Given the description of an element on the screen output the (x, y) to click on. 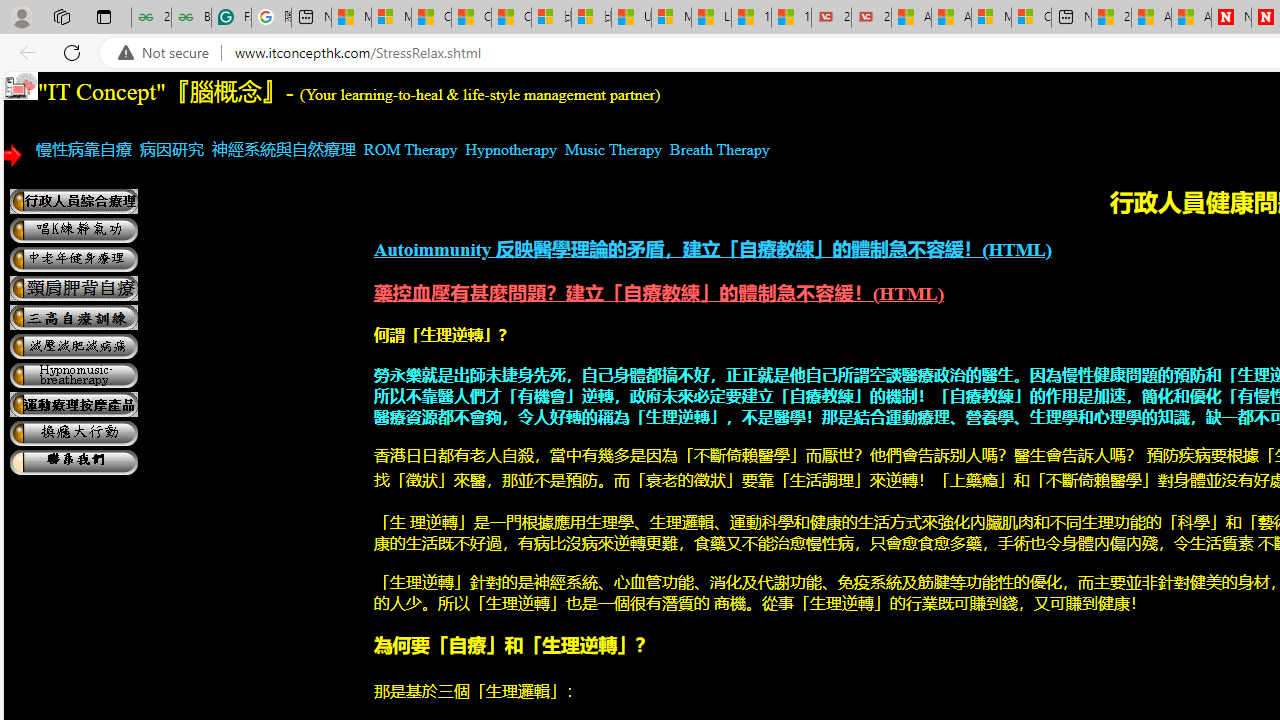
20 Ways to Boost Your Protein Intake at Every Meal (1111, 17)
Best SSL Certificates Provider in India - GeeksforGeeks (191, 17)
Hypnotherapy (510, 149)
ROM Therapy (410, 149)
